Given the description of an element on the screen output the (x, y) to click on. 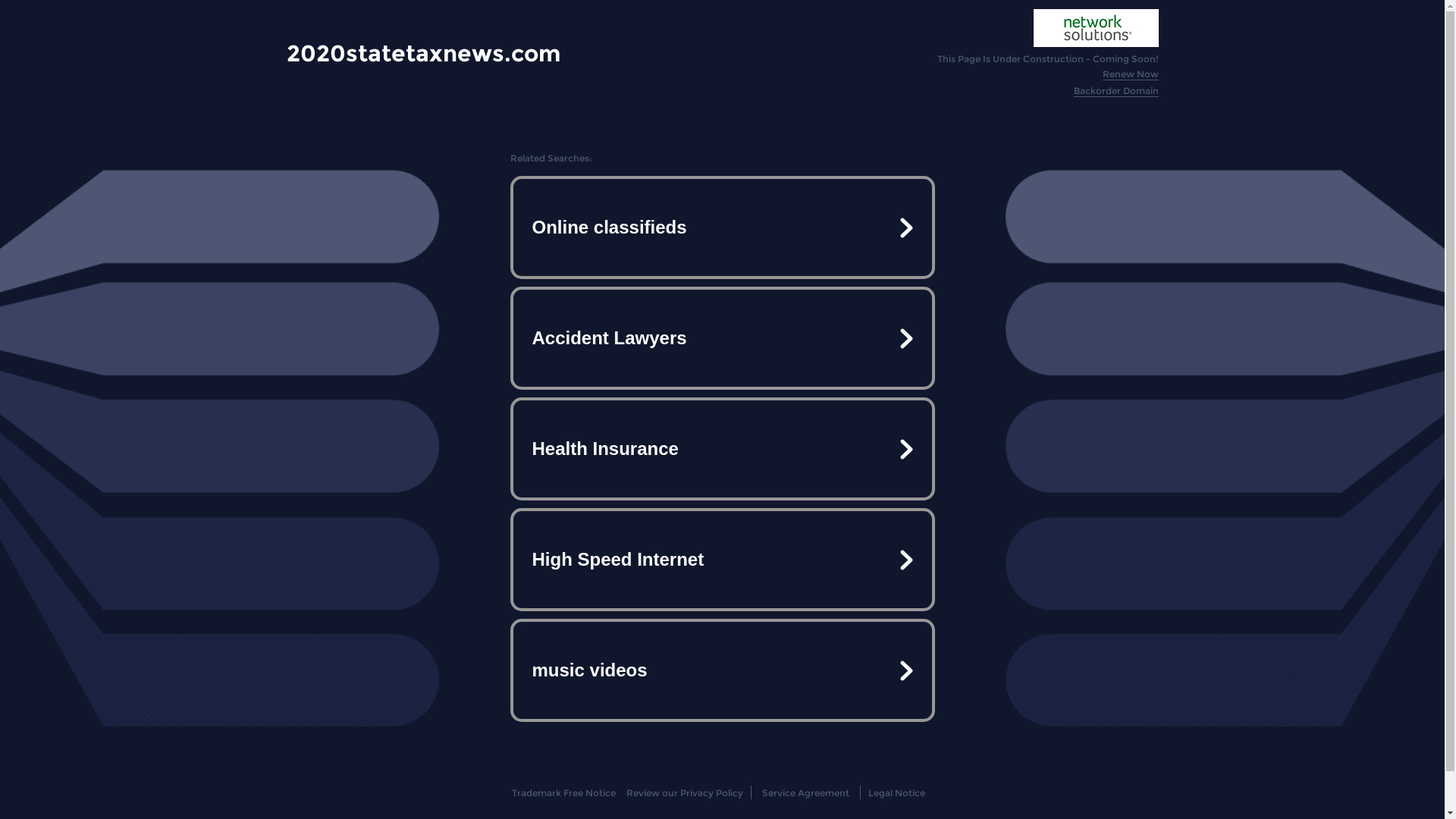
Service Agreement Element type: text (805, 792)
2020statetaxnews.com Element type: text (423, 53)
Online classifieds Element type: text (721, 227)
Accident Lawyers Element type: text (721, 337)
Renew Now Element type: text (1130, 74)
Backorder Domain Element type: text (1115, 90)
Health Insurance Element type: text (721, 448)
High Speed Internet Element type: text (721, 559)
Trademark Free Notice Element type: text (563, 792)
Review our Privacy Policy Element type: text (684, 792)
music videos Element type: text (721, 669)
Legal Notice Element type: text (896, 792)
